Given the description of an element on the screen output the (x, y) to click on. 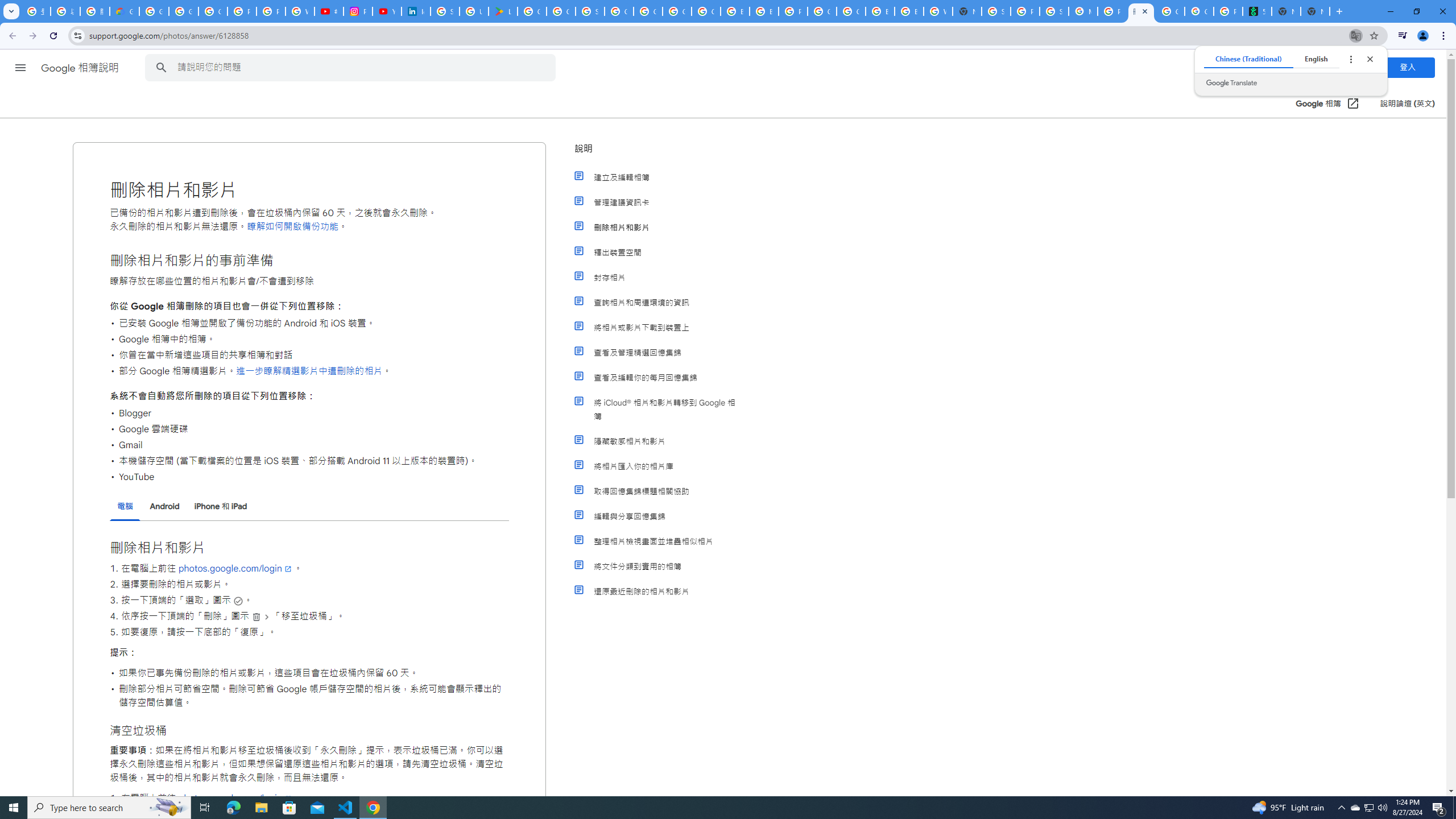
Browse Chrome as a guest - Computer - Google Chrome Help (734, 11)
Translate this page (1355, 35)
